Given the description of an element on the screen output the (x, y) to click on. 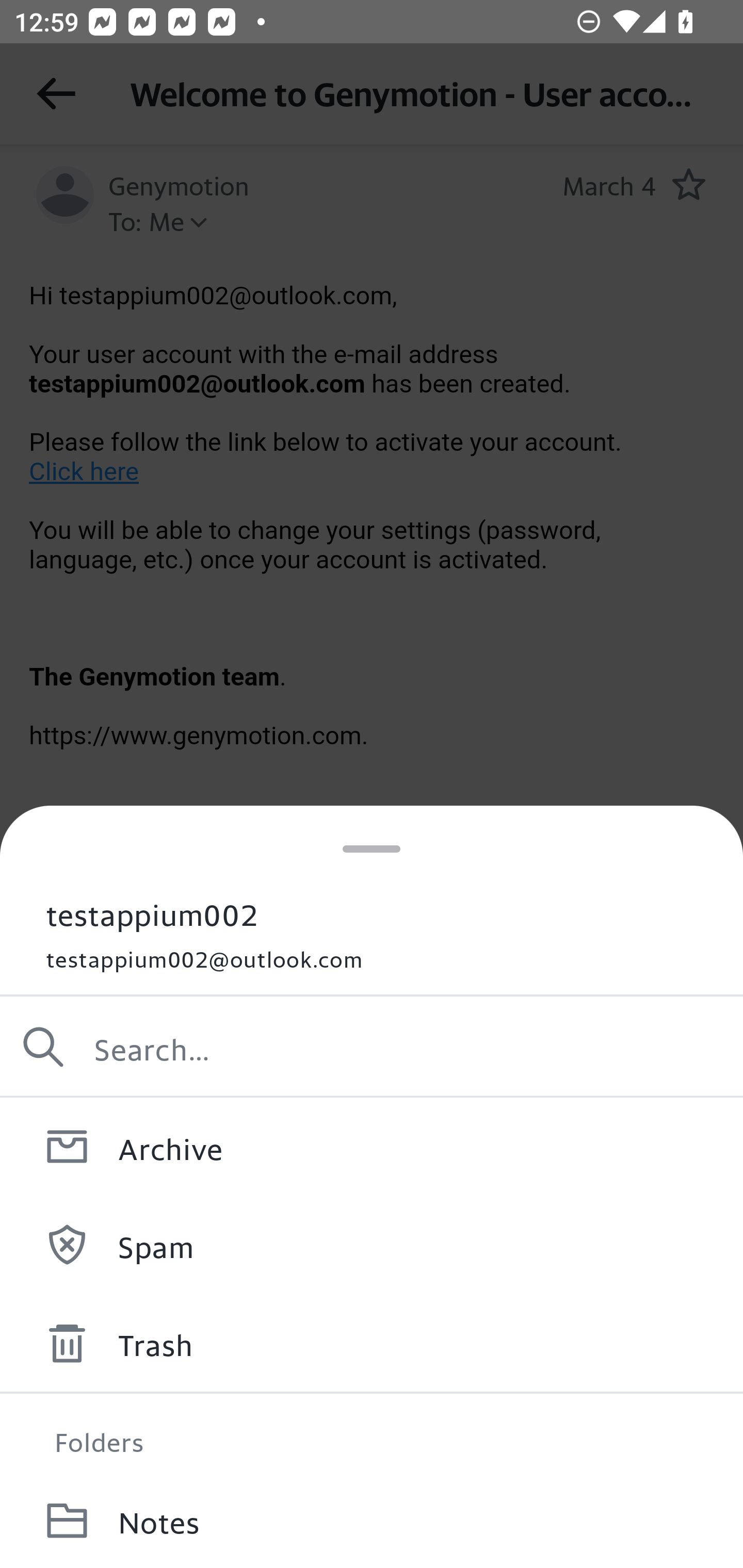
Search… (371, 1047)
Archive (371, 1145)
Spam (371, 1243)
Trash (371, 1342)
Notes (371, 1520)
